Given the description of an element on the screen output the (x, y) to click on. 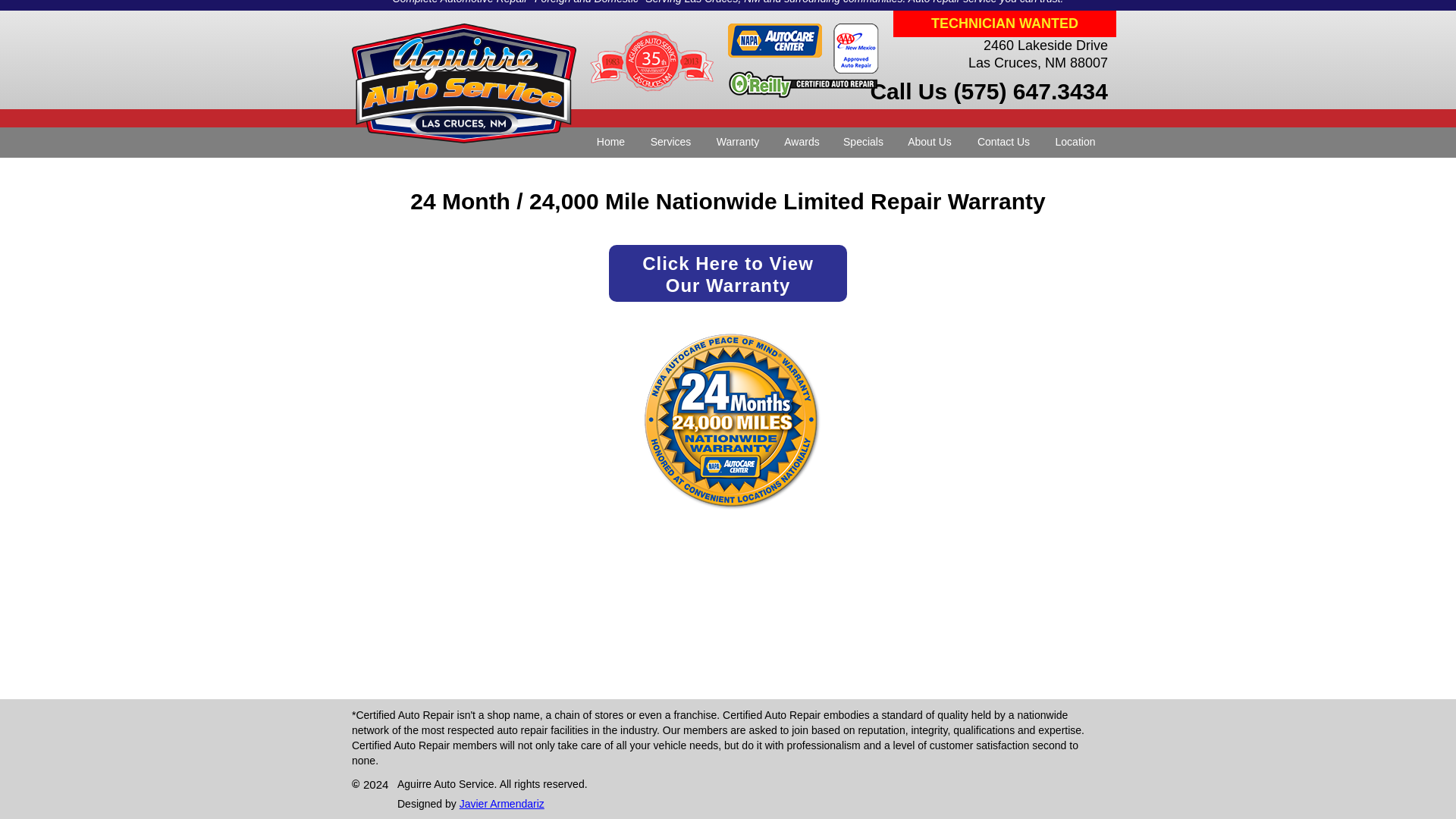
Location (1075, 142)
TECHNICIAN WANTED (1004, 23)
Specials (863, 142)
Home (611, 142)
Warranty (727, 273)
Services (738, 142)
Awards (671, 142)
Javier Armendariz (802, 142)
About Us (502, 803)
Contact Us (929, 142)
